Given the description of an element on the screen output the (x, y) to click on. 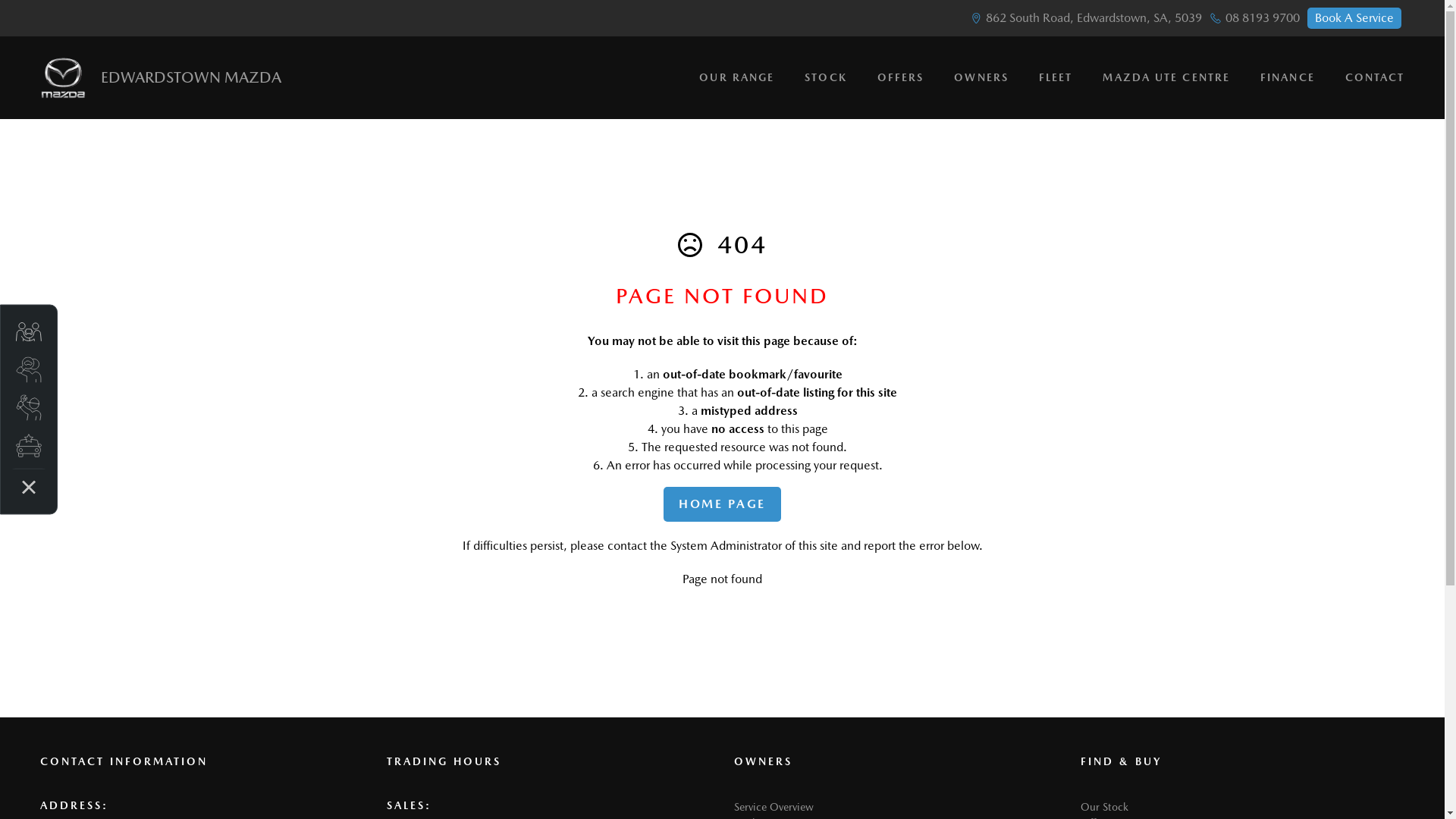
MAZDA UTE CENTRE Element type: text (1166, 76)
OUR RANGE Element type: text (736, 76)
STOCK Element type: text (825, 76)
Service Overview Element type: text (773, 806)
CONTACT Element type: text (1367, 76)
Our Stock Element type: text (1104, 806)
08 8193 9700 Element type: text (1262, 18)
FINANCE Element type: text (1287, 76)
HOME PAGE Element type: text (722, 503)
862 South Road, Edwardstown, SA, 5039 Element type: text (1093, 18)
EDWARDSTOWN MAZDA Element type: text (159, 77)
Book A Service Element type: text (1354, 17)
OWNERS Element type: text (980, 76)
OFFERS Element type: text (900, 76)
FLEET Element type: text (1055, 76)
